Given the description of an element on the screen output the (x, y) to click on. 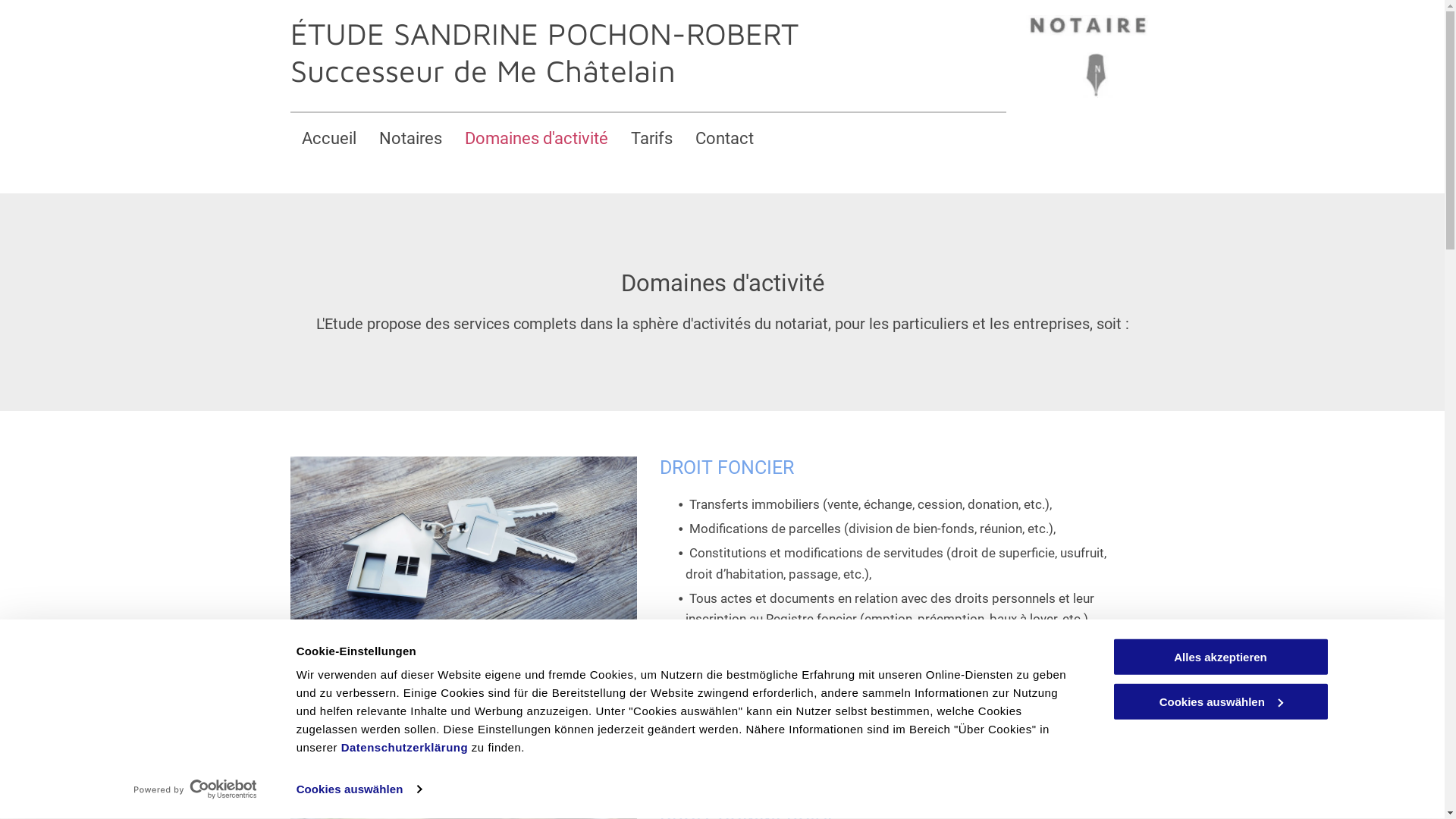
Tarifs Element type: text (650, 137)
Accueil Element type: text (328, 137)
Contact Element type: text (724, 137)
Alles akzeptieren Element type: text (1219, 656)
Notaires Element type: text (409, 137)
